Given the description of an element on the screen output the (x, y) to click on. 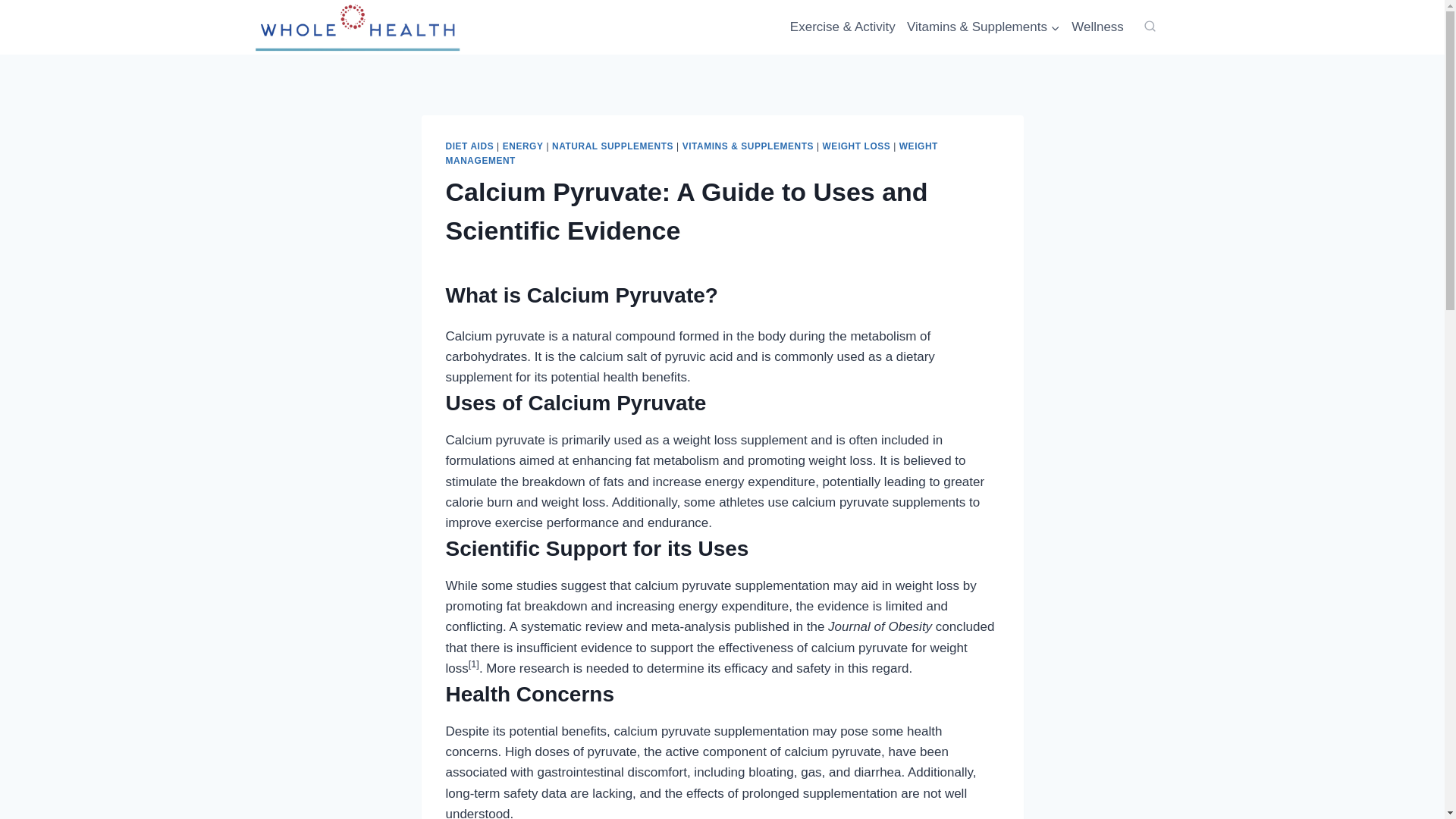
DIET AIDS (470, 145)
ENERGY (522, 145)
Wellness (1097, 27)
